Given the description of an element on the screen output the (x, y) to click on. 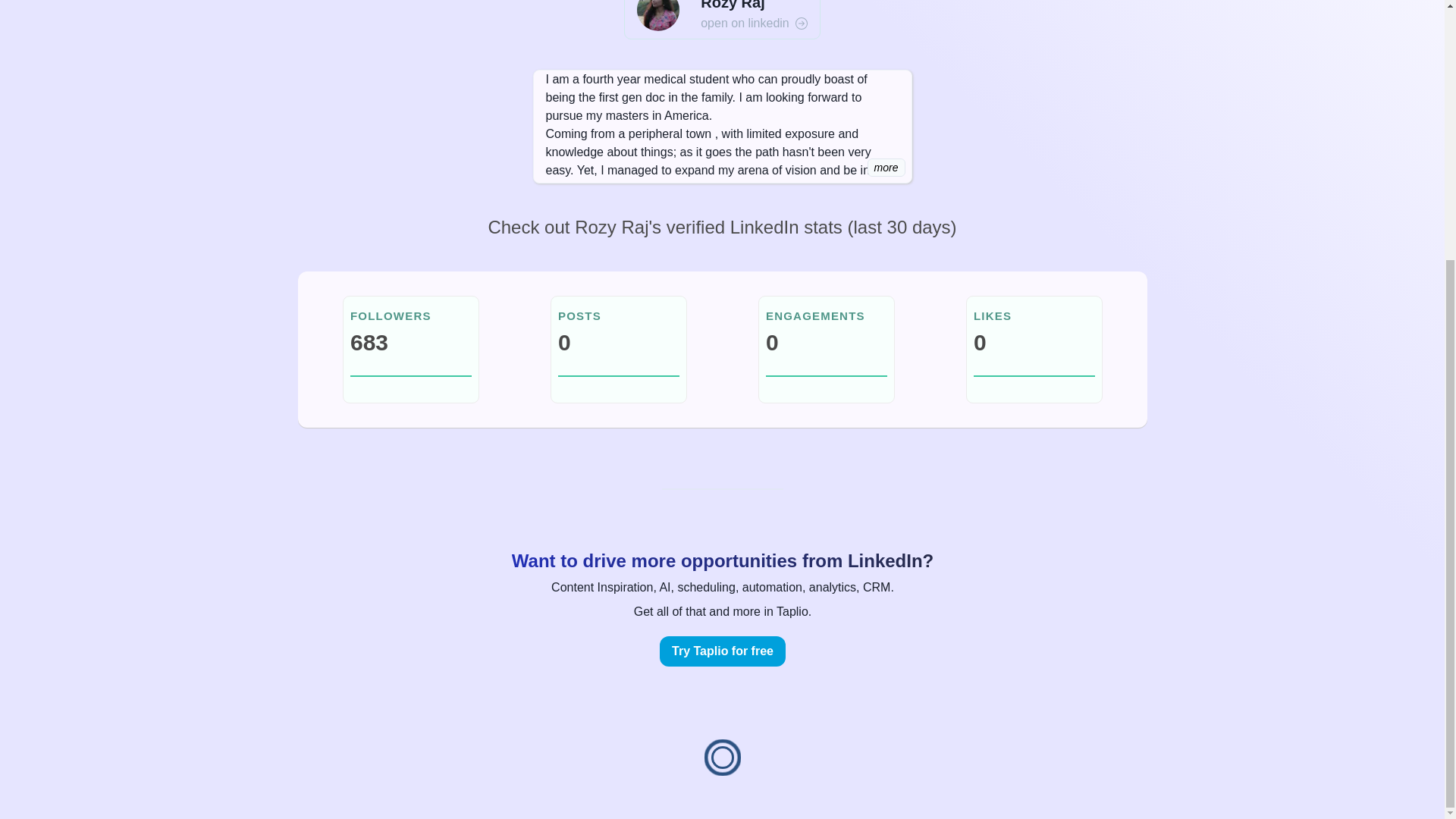
Try Taplio for free (722, 650)
open on linkedin (754, 23)
more (886, 167)
